Given the description of an element on the screen output the (x, y) to click on. 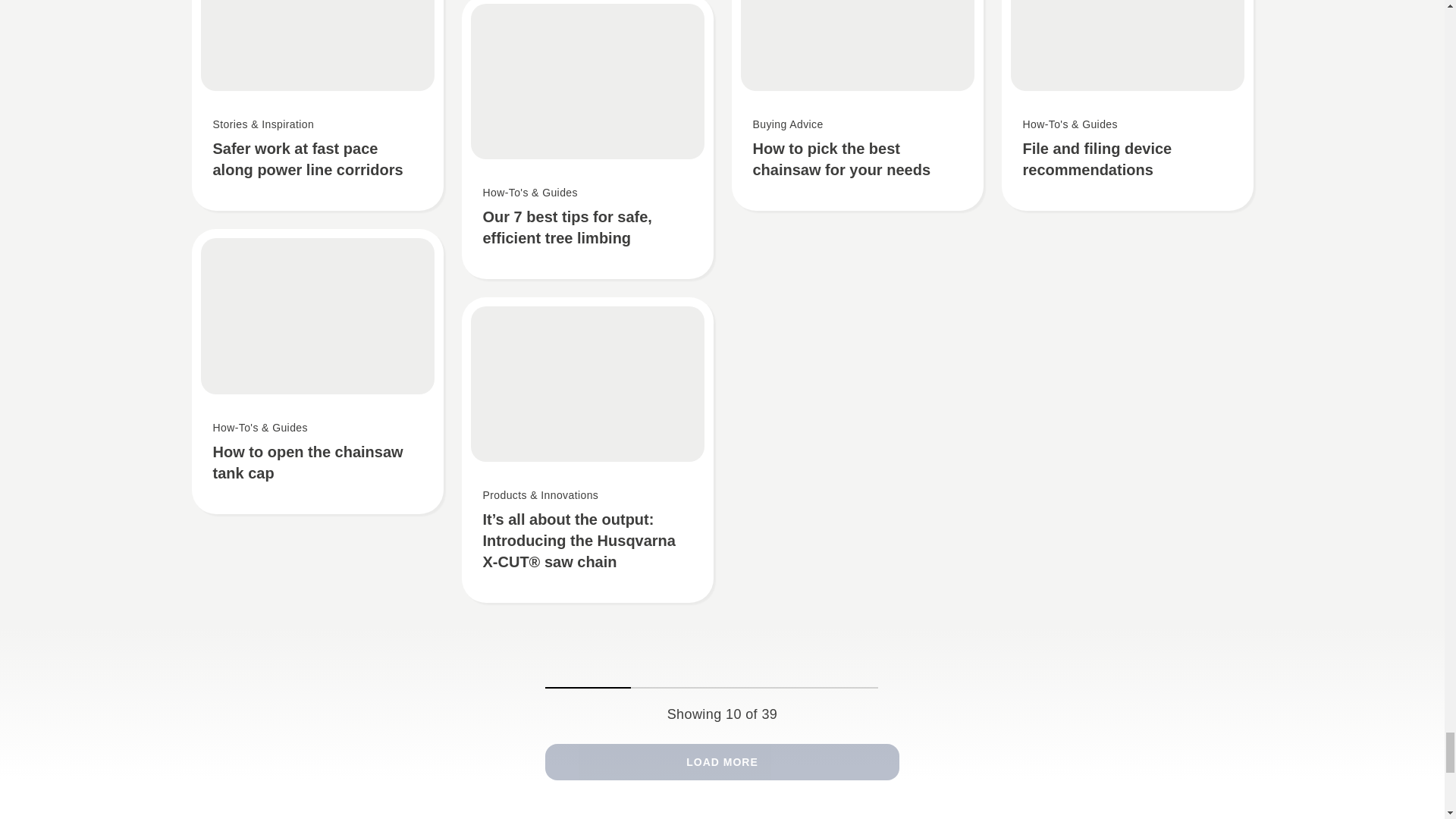
Flip-up tank cap (316, 371)
Safer work at fast pace along power line corridors (316, 105)
File and filing device recommendations (1126, 105)
Our 7 best tips for safe, efficient tree limbing (587, 139)
How to pick the best chainsaw for your needs (856, 105)
